Given the description of an element on the screen output the (x, y) to click on. 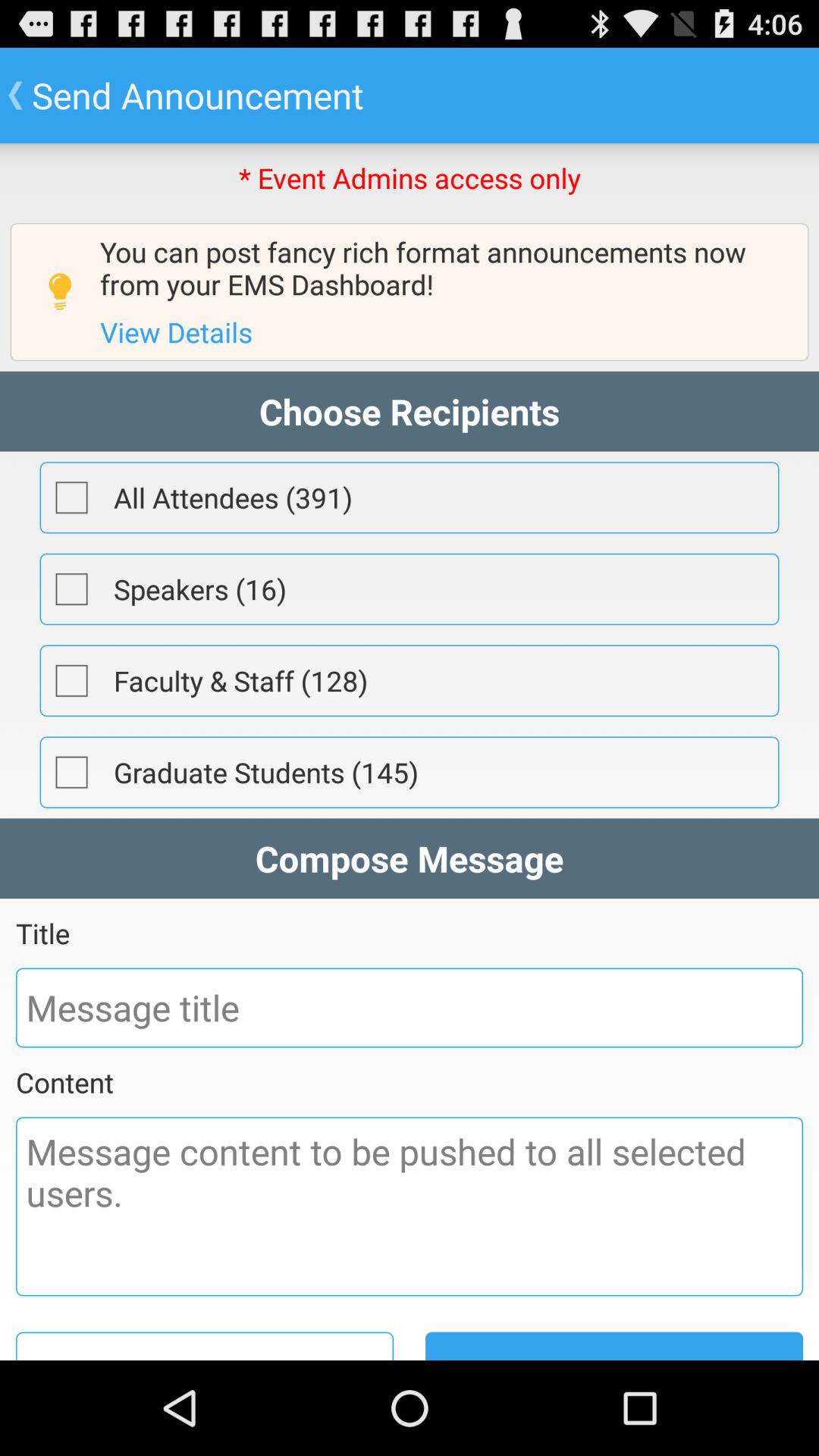
select item (71, 772)
